Given the description of an element on the screen output the (x, y) to click on. 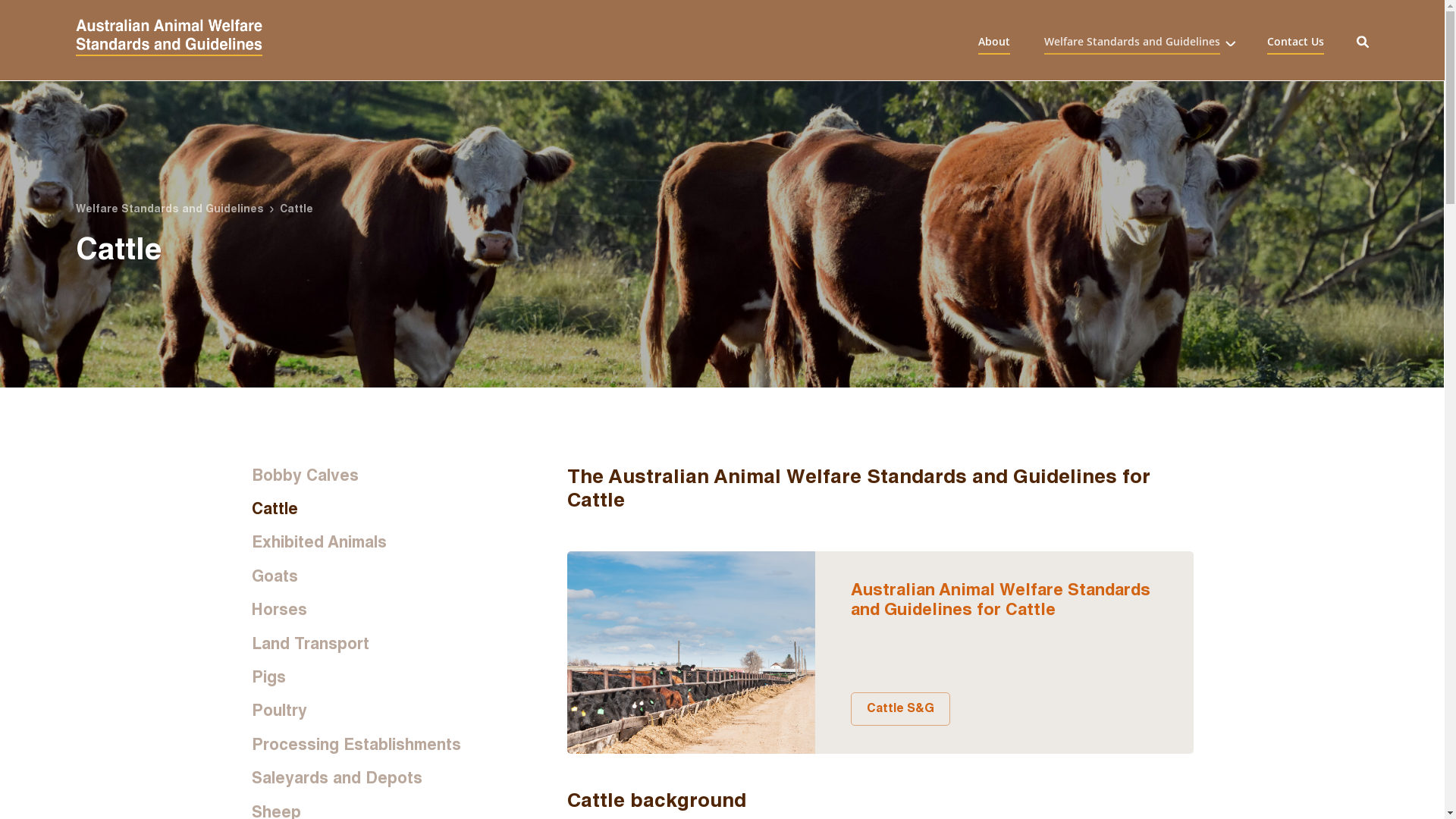
Pigs Element type: text (374, 676)
Welfare Standards and Guidelines Element type: text (172, 208)
Search Element type: hover (1362, 40)
Bobby Calves Element type: text (374, 475)
Poultry Element type: text (374, 710)
Cattle Element type: text (374, 508)
Land Transport Element type: text (374, 643)
Goats Element type: text (374, 575)
Exhibited Animals Element type: text (374, 541)
Saleyards and Depots Element type: text (374, 777)
Welfare Standards and Guidelines Element type: text (1132, 44)
Processing Establishments Element type: text (374, 744)
About Element type: text (994, 44)
Contact Us Element type: text (1295, 44)
Horses Element type: text (374, 609)
